Given the description of an element on the screen output the (x, y) to click on. 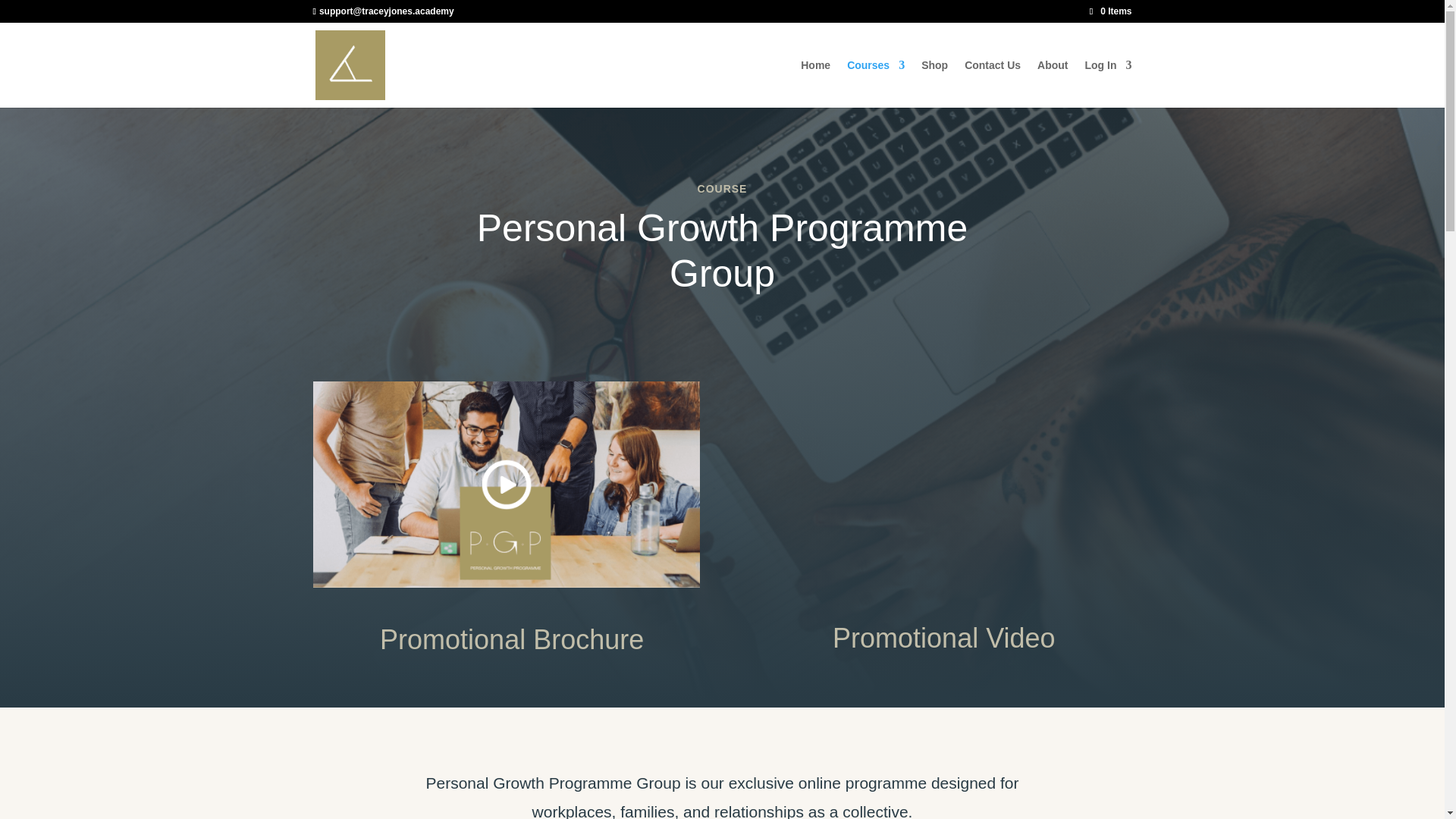
Contact Us (991, 83)
PGP Promo (937, 489)
Courses (875, 83)
Log In (1107, 83)
0 Items (1110, 10)
PGP (505, 484)
